Given the description of an element on the screen output the (x, y) to click on. 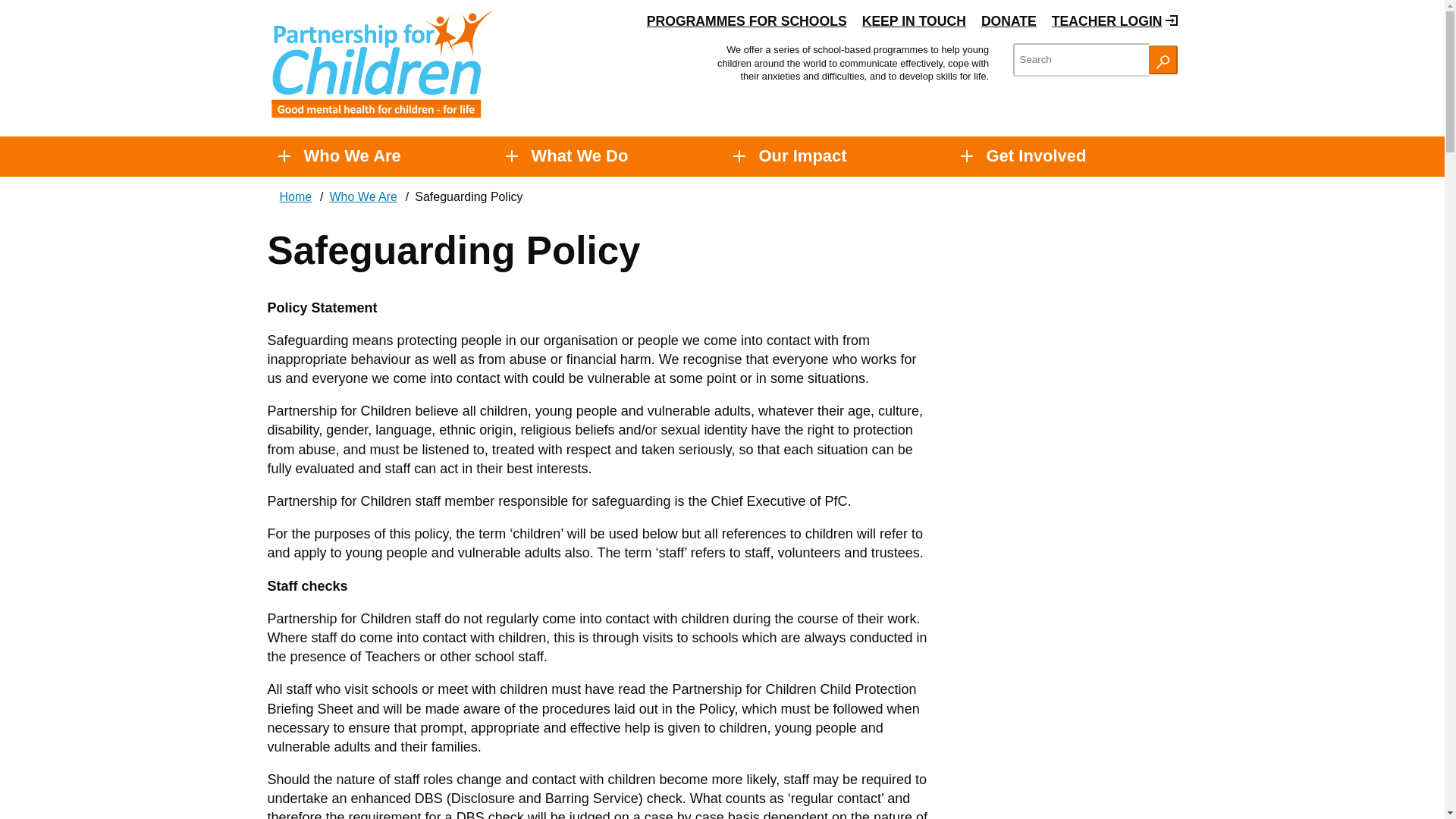
PROGRAMMES FOR SCHOOLS (746, 21)
KEEP IN TOUCH (913, 21)
Who We Are (351, 156)
Submit search query (1162, 59)
What We Do (578, 156)
Submit search query (380, 63)
Partnership for Children (1162, 62)
DONATE (380, 63)
TEACHER LOGIN (1008, 21)
